Given the description of an element on the screen output the (x, y) to click on. 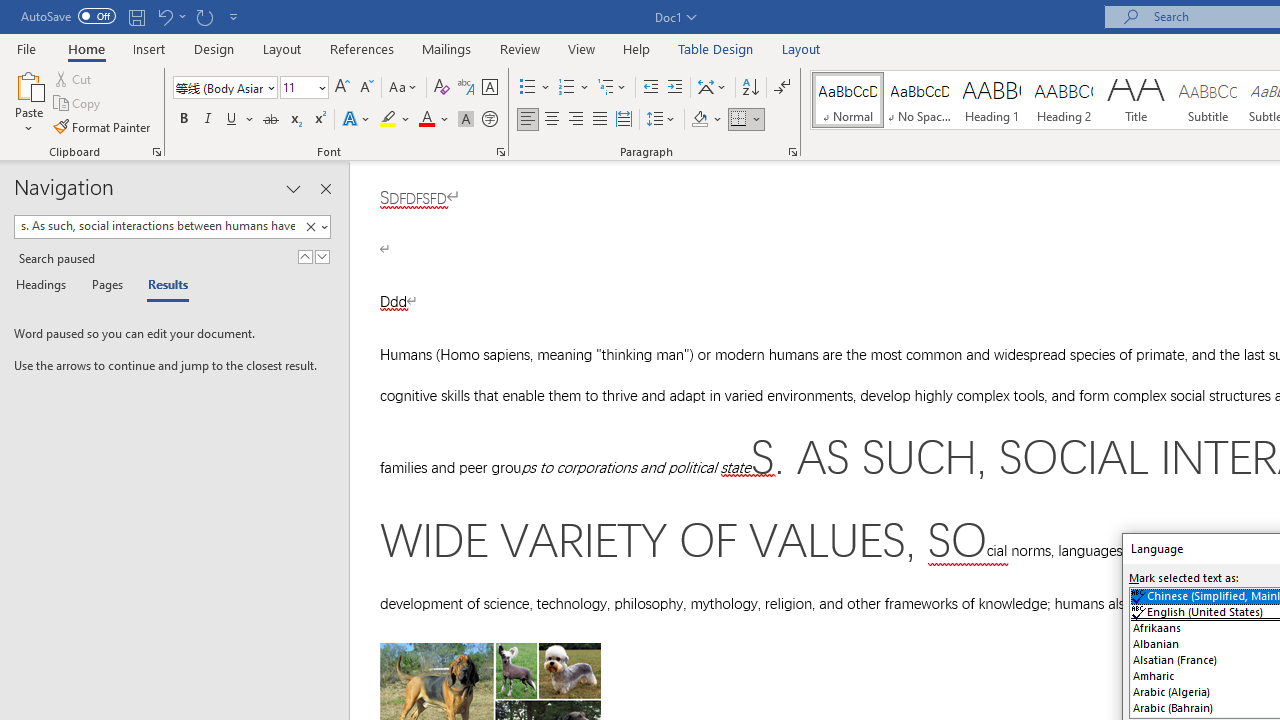
Font Color RGB(255, 0, 0) (426, 119)
Clear (310, 227)
